Given the description of an element on the screen output the (x, y) to click on. 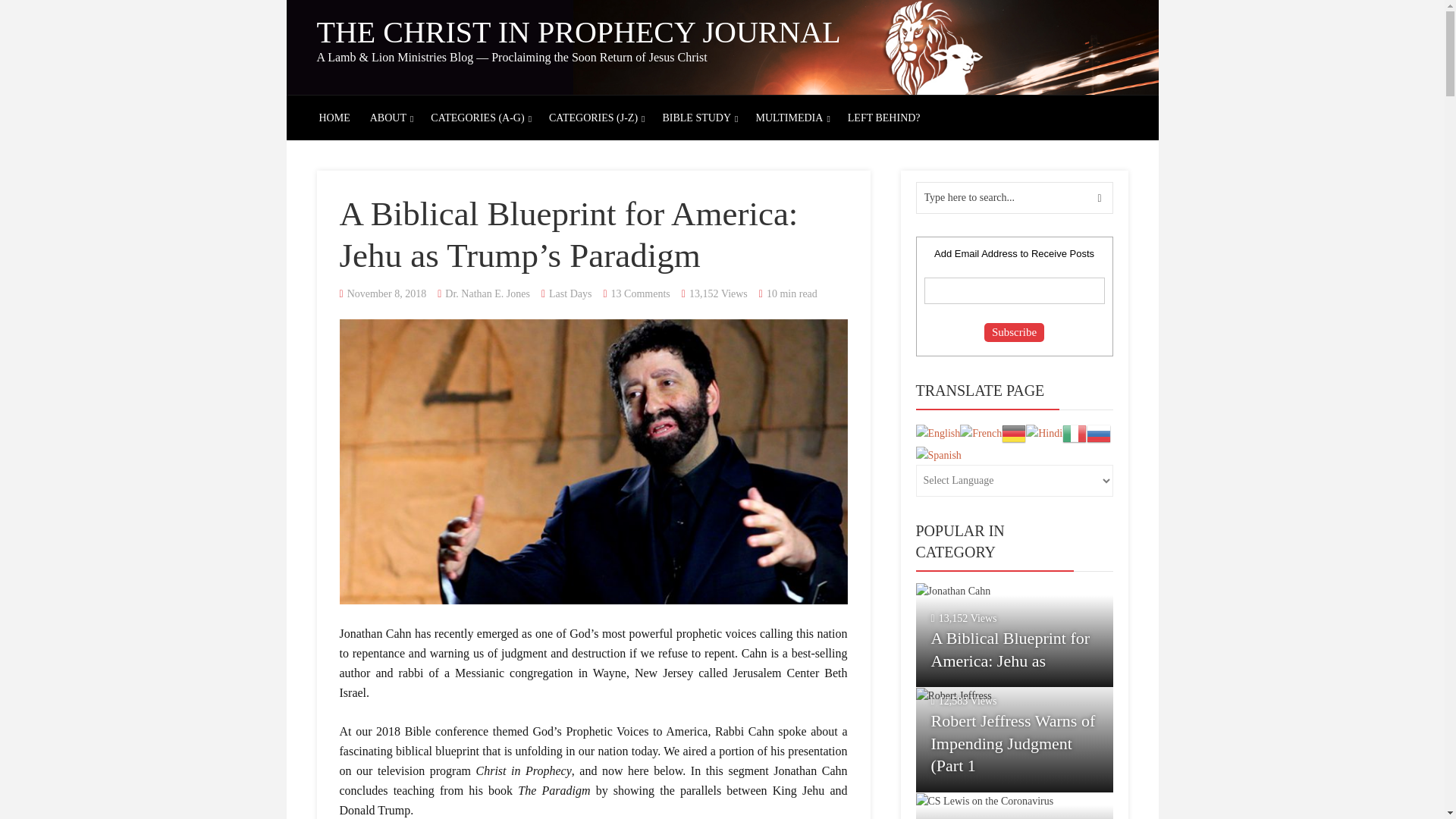
Italian (1074, 432)
Type here to search... (1014, 197)
English (937, 432)
The Christ in Prophecy Journal (579, 32)
Hindi (1044, 432)
THE CHRIST IN PROPHECY JOURNAL (579, 32)
Type here to search... (1014, 197)
Subscribe (1013, 332)
ABOUT (388, 117)
Russian (1098, 432)
French (980, 432)
BIBLE STUDY (696, 117)
German (1013, 432)
